Given the description of an element on the screen output the (x, y) to click on. 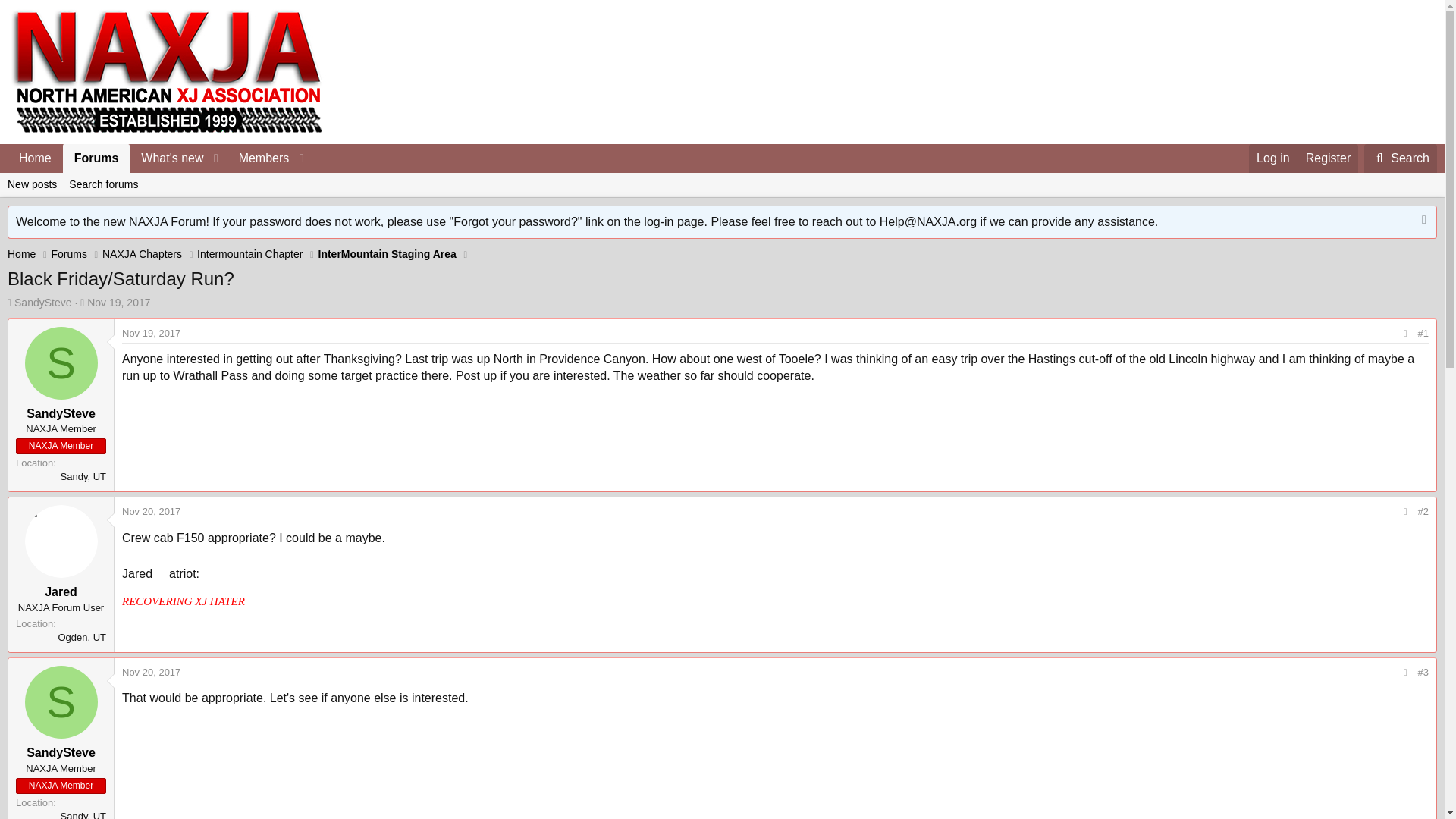
What's new (167, 158)
Search (1400, 158)
Home (34, 158)
Register (1327, 158)
Stick out tongue    :p (160, 571)
Nov 19, 2017 (118, 302)
Search forums (103, 184)
Search (1400, 158)
Forums (67, 254)
NAXJA Chapters (141, 254)
